Given the description of an element on the screen output the (x, y) to click on. 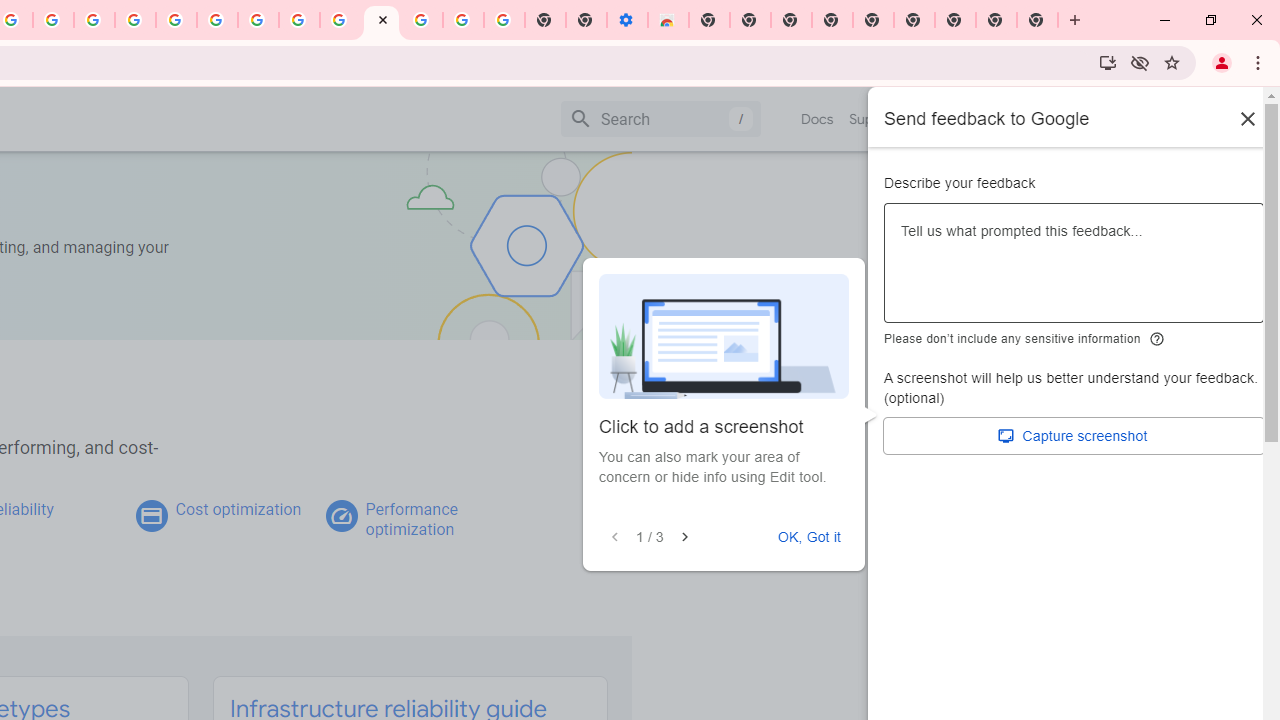
Next (683, 537)
Performance optimization (411, 519)
Browse the Google Chrome Community - Google Chrome Community (340, 20)
Google Account Help (217, 20)
New Tab (955, 20)
Previous (615, 537)
Sign in - Google Accounts (421, 20)
New Tab (708, 20)
Docs (817, 119)
